Given the description of an element on the screen output the (x, y) to click on. 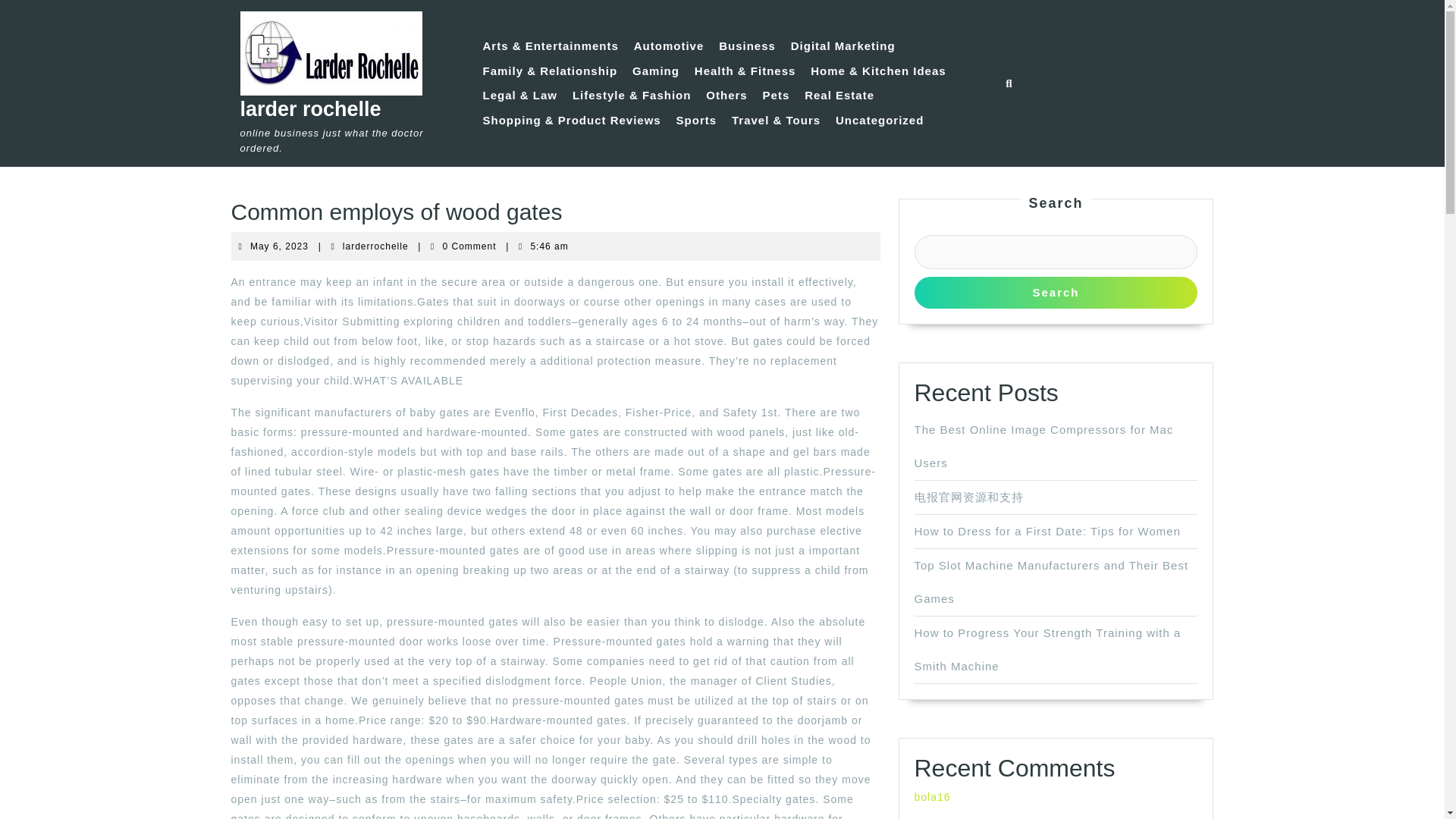
Automotive (668, 46)
Search (279, 245)
Sports (1056, 292)
larder rochelle (696, 119)
Uncategorized (310, 108)
The Best Online Image Compressors for Mac Users (879, 119)
Digital Marketing (1043, 446)
Gaming (842, 46)
How to Dress for a First Date: Tips for Women (375, 245)
Business (655, 71)
Others (1047, 530)
Real Estate (747, 46)
Pets (726, 95)
